Given the description of an element on the screen output the (x, y) to click on. 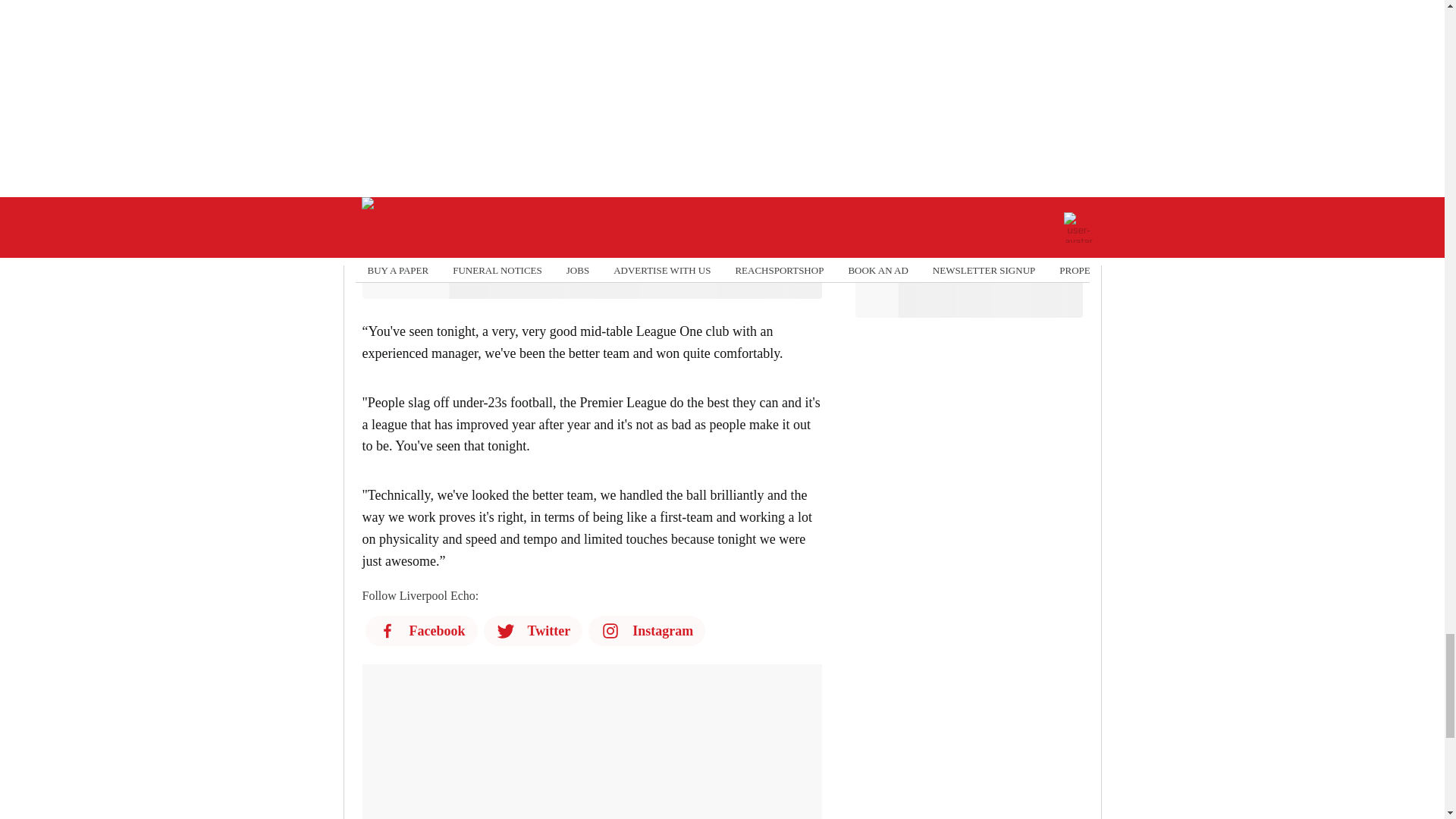
Instagram (646, 630)
Facebook (421, 630)
Twitter (533, 630)
